Given the description of an element on the screen output the (x, y) to click on. 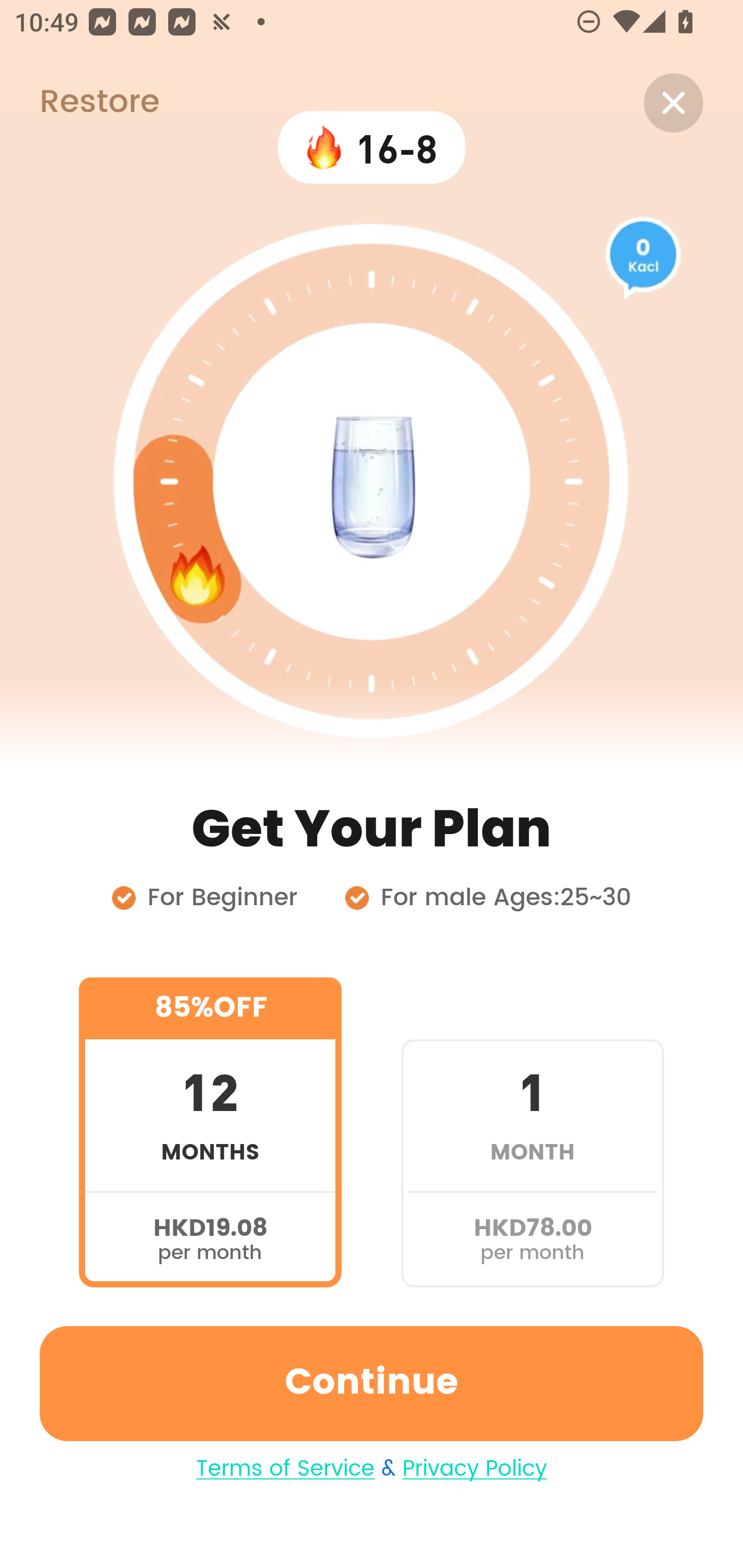
Restore (79, 102)
85%OFF 12 MONTHS per month HKD19.08 (209, 1131)
1 MONTH per month HKD78.00 (532, 1131)
Continue (371, 1383)
